Given the description of an element on the screen output the (x, y) to click on. 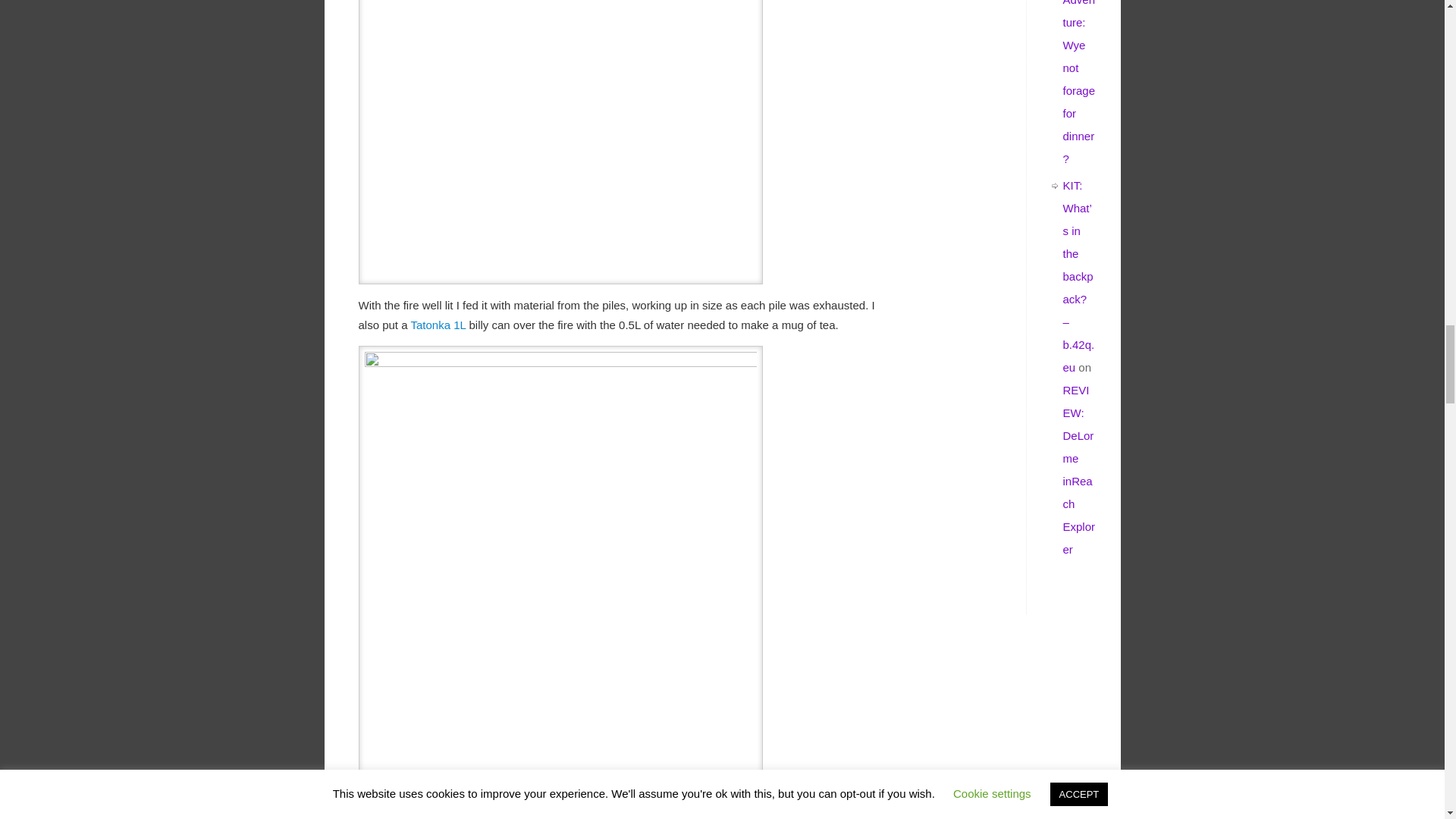
Tatonka 1L (439, 324)
